Given the description of an element on the screen output the (x, y) to click on. 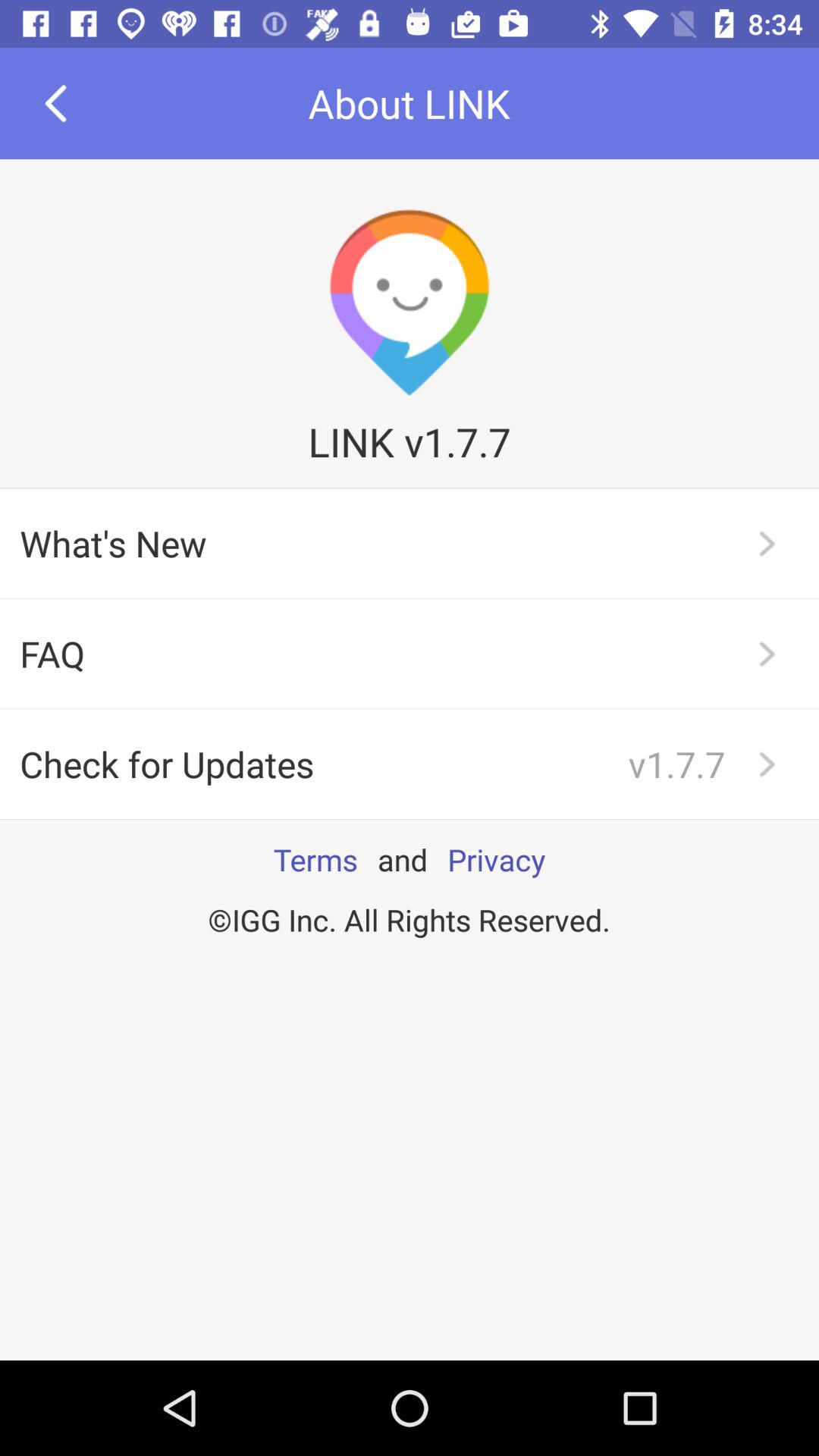
launch the app to the right of the and icon (496, 859)
